Given the description of an element on the screen output the (x, y) to click on. 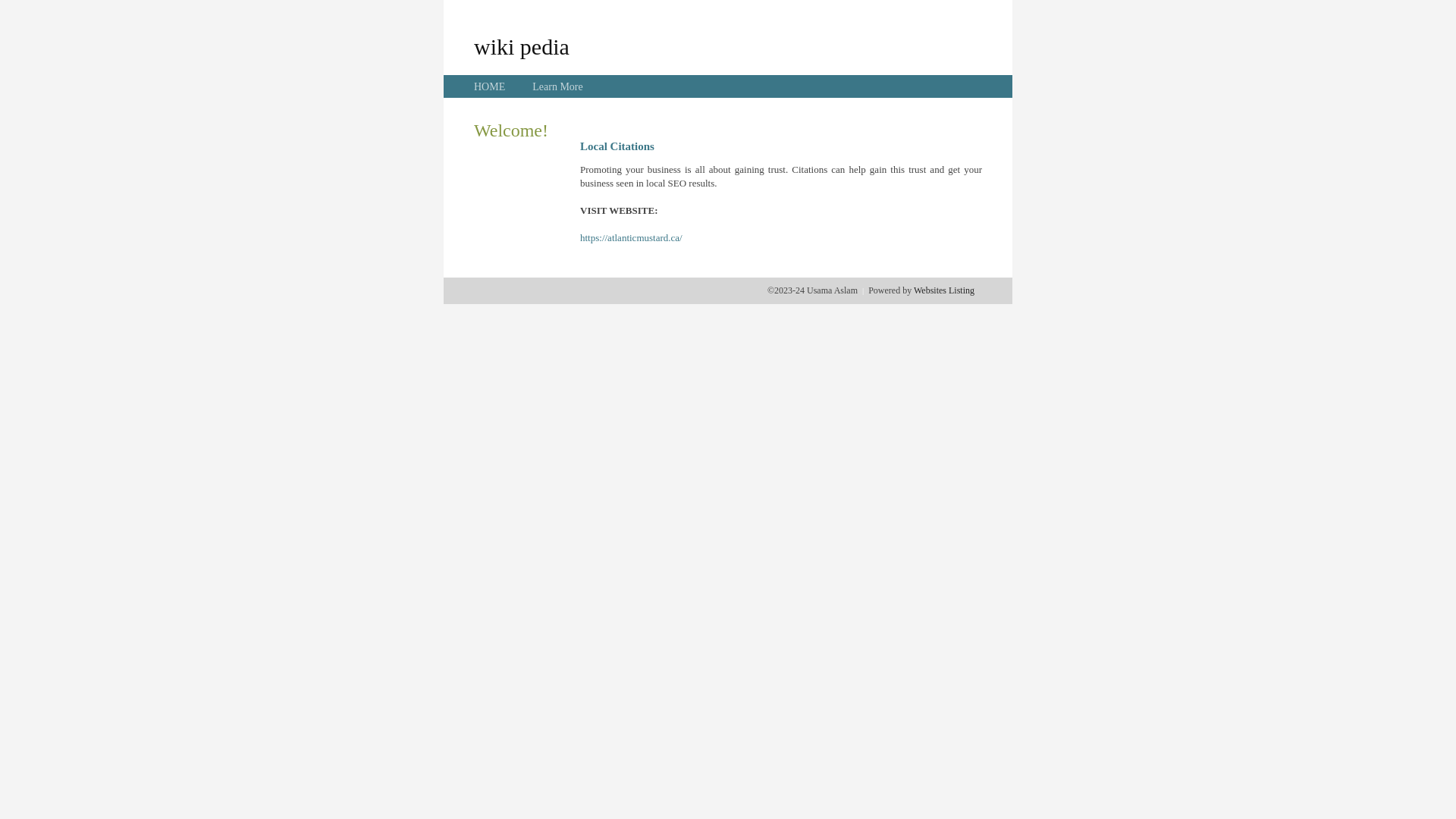
https://atlanticmustard.ca/ Element type: text (631, 237)
HOME Element type: text (489, 86)
Websites Listing Element type: text (943, 290)
Learn More Element type: text (557, 86)
wiki pedia Element type: text (521, 46)
